Given the description of an element on the screen output the (x, y) to click on. 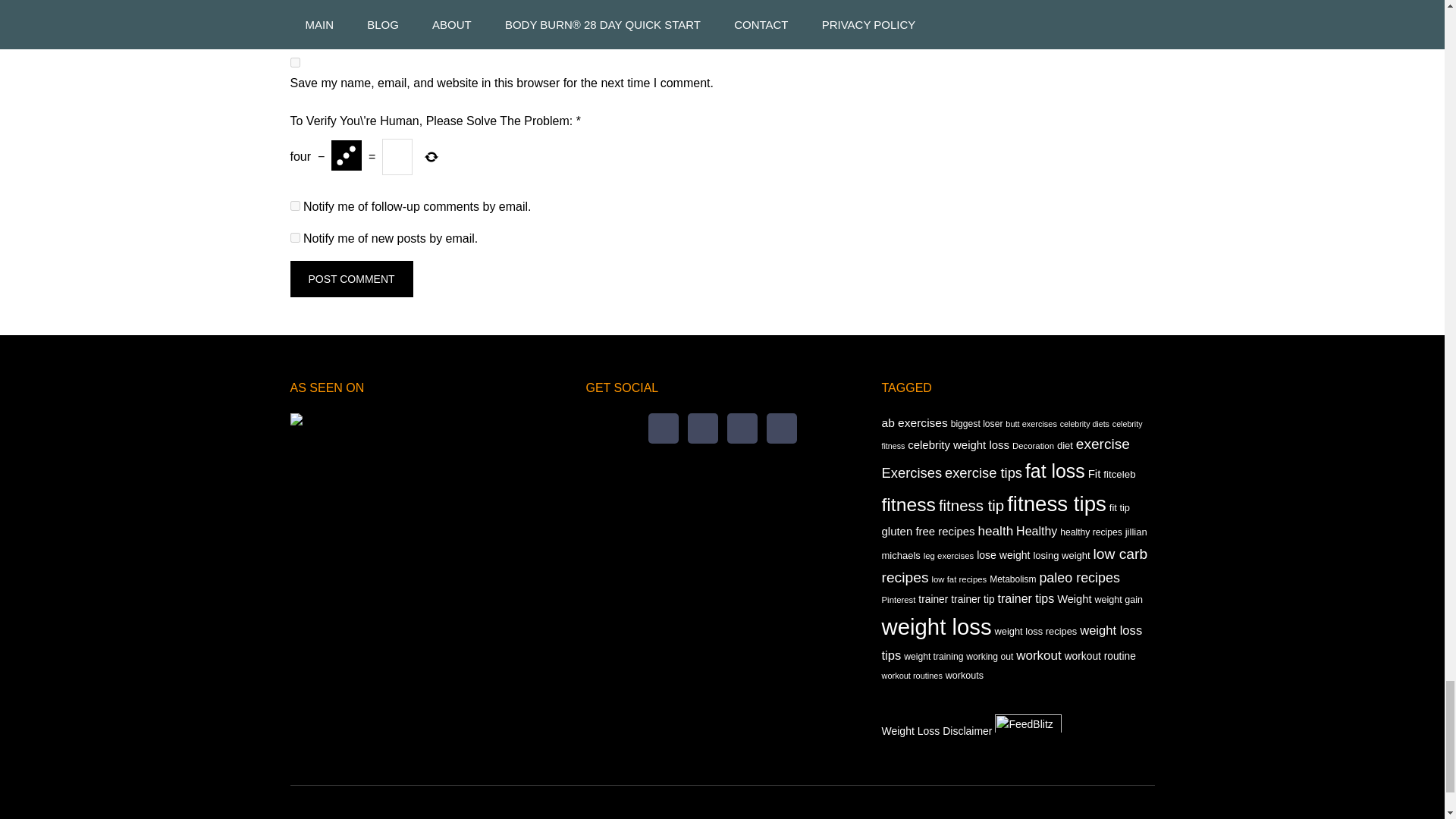
subscribe (294, 237)
subscribe (294, 205)
yes (294, 62)
Post Comment (350, 279)
